Given the description of an element on the screen output the (x, y) to click on. 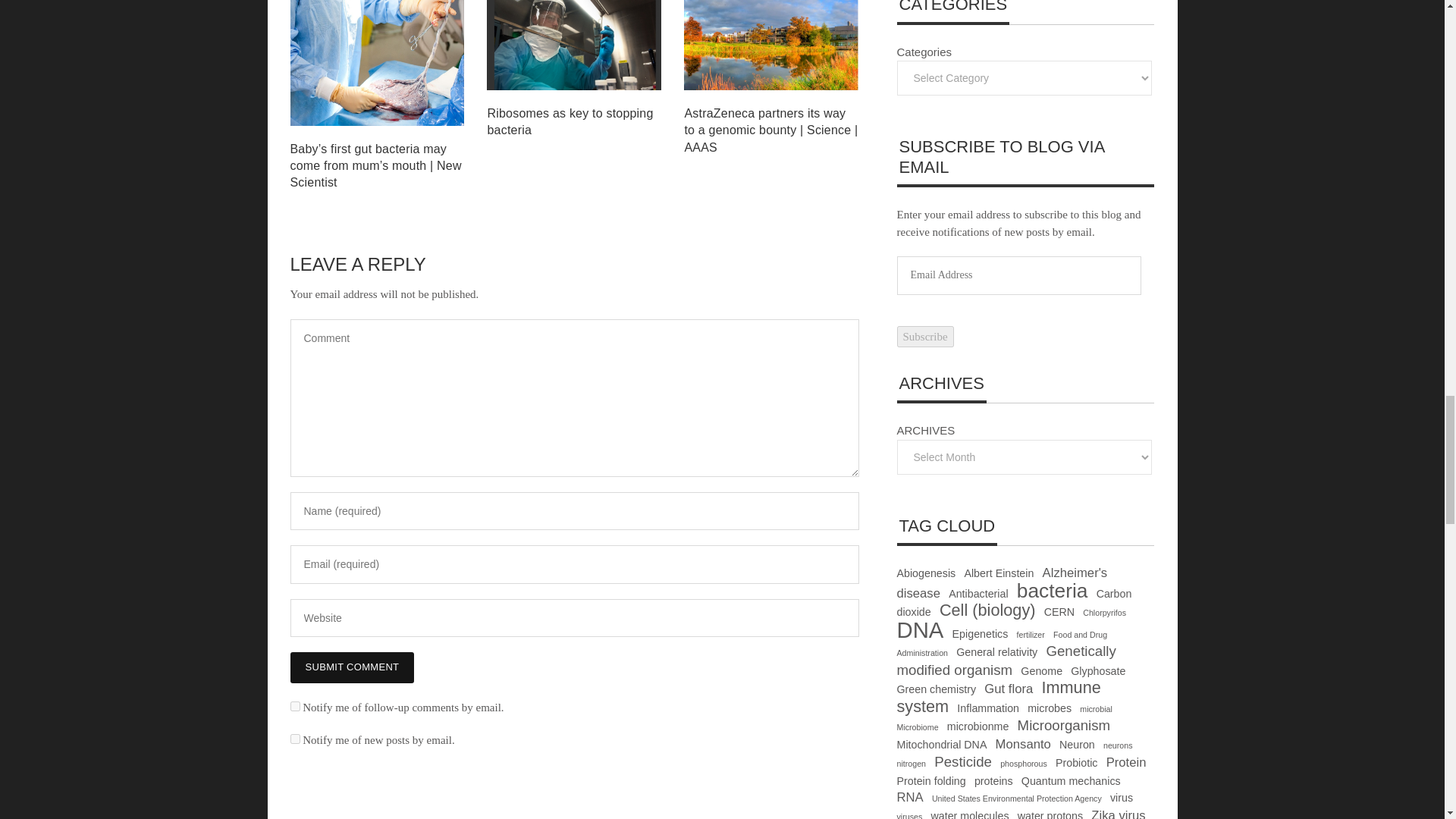
Subscribe (924, 336)
subscribe (294, 738)
subscribe (294, 706)
Submit Comment (351, 667)
